Given the description of an element on the screen output the (x, y) to click on. 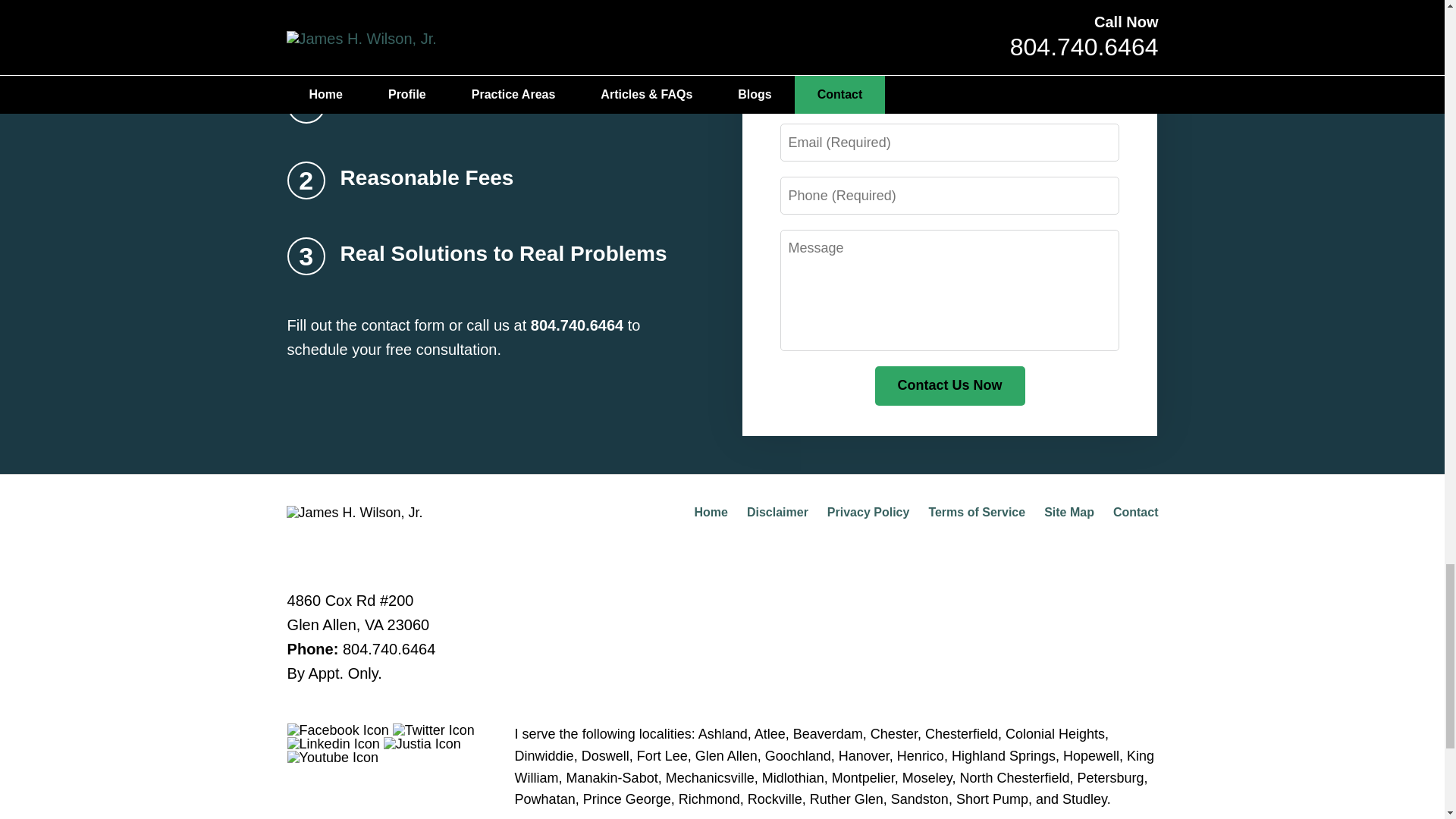
804.740.6464 (388, 648)
Twitter (433, 730)
Linkedin (333, 744)
Contact Us Now (950, 385)
Privacy Policy (868, 512)
Justia (422, 744)
Facebook (337, 730)
Youtube (332, 757)
Home (710, 512)
Disclaimer (777, 512)
Terms of Service (976, 512)
